Given the description of an element on the screen output the (x, y) to click on. 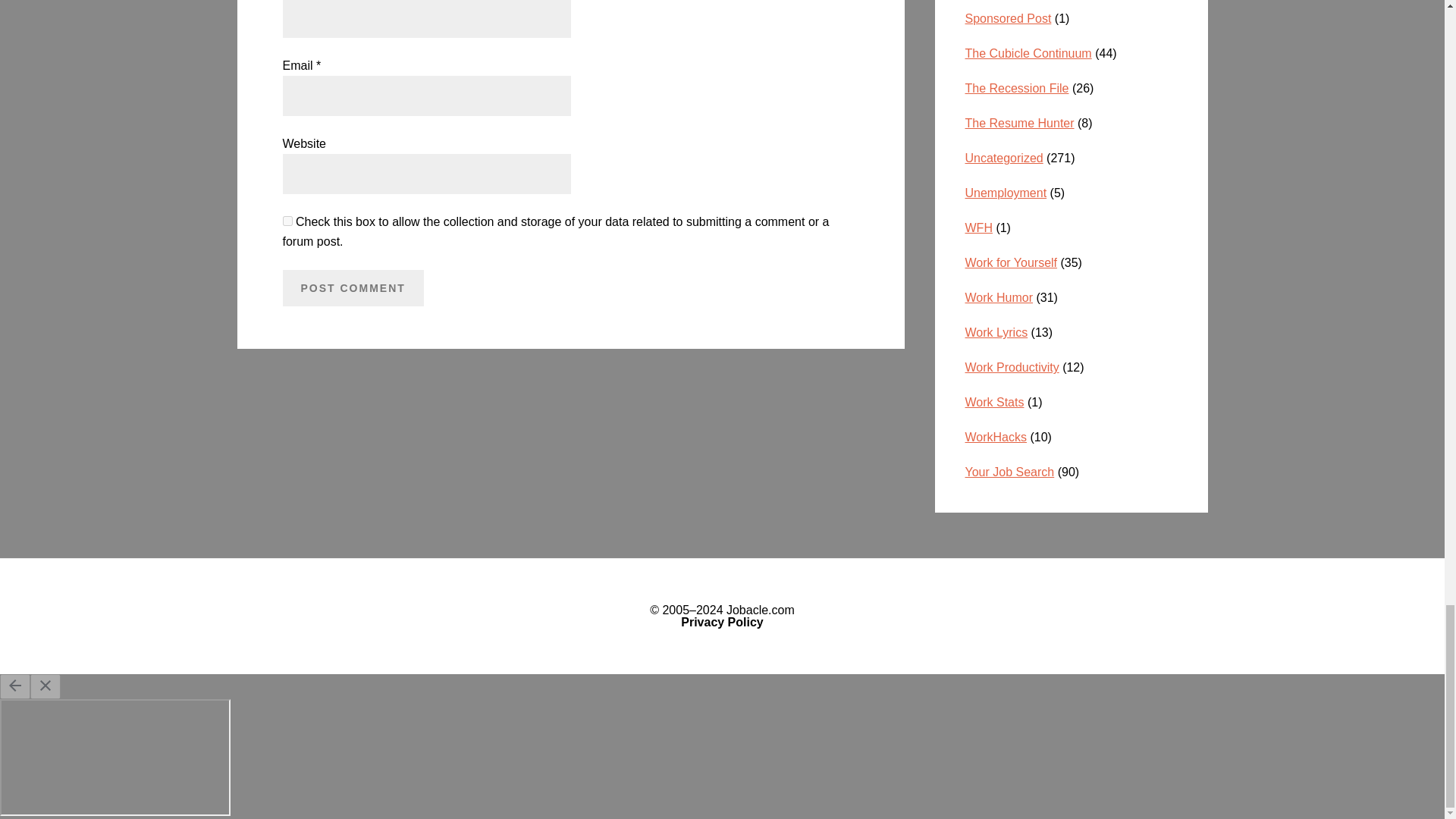
Post Comment (352, 288)
Post Comment (352, 288)
on (287, 221)
Privacy Policy (721, 621)
